Given the description of an element on the screen output the (x, y) to click on. 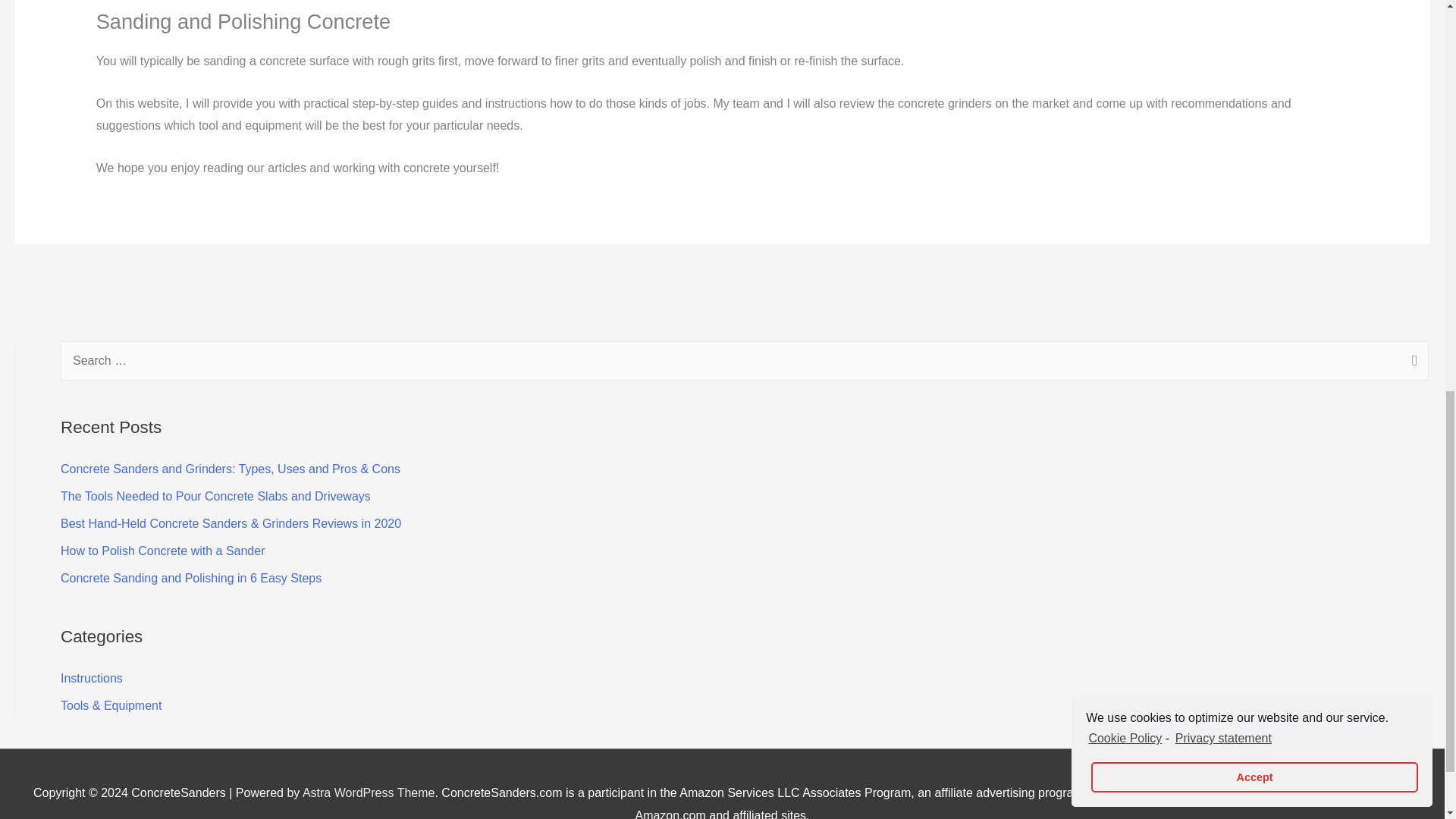
Concrete Sanding and Polishing in 6 Easy Steps (191, 577)
Instructions (91, 677)
Astra WordPress Theme (368, 792)
How to Polish Concrete with a Sander (162, 550)
The Tools Needed to Pour Concrete Slabs and Driveways (216, 495)
